Given the description of an element on the screen output the (x, y) to click on. 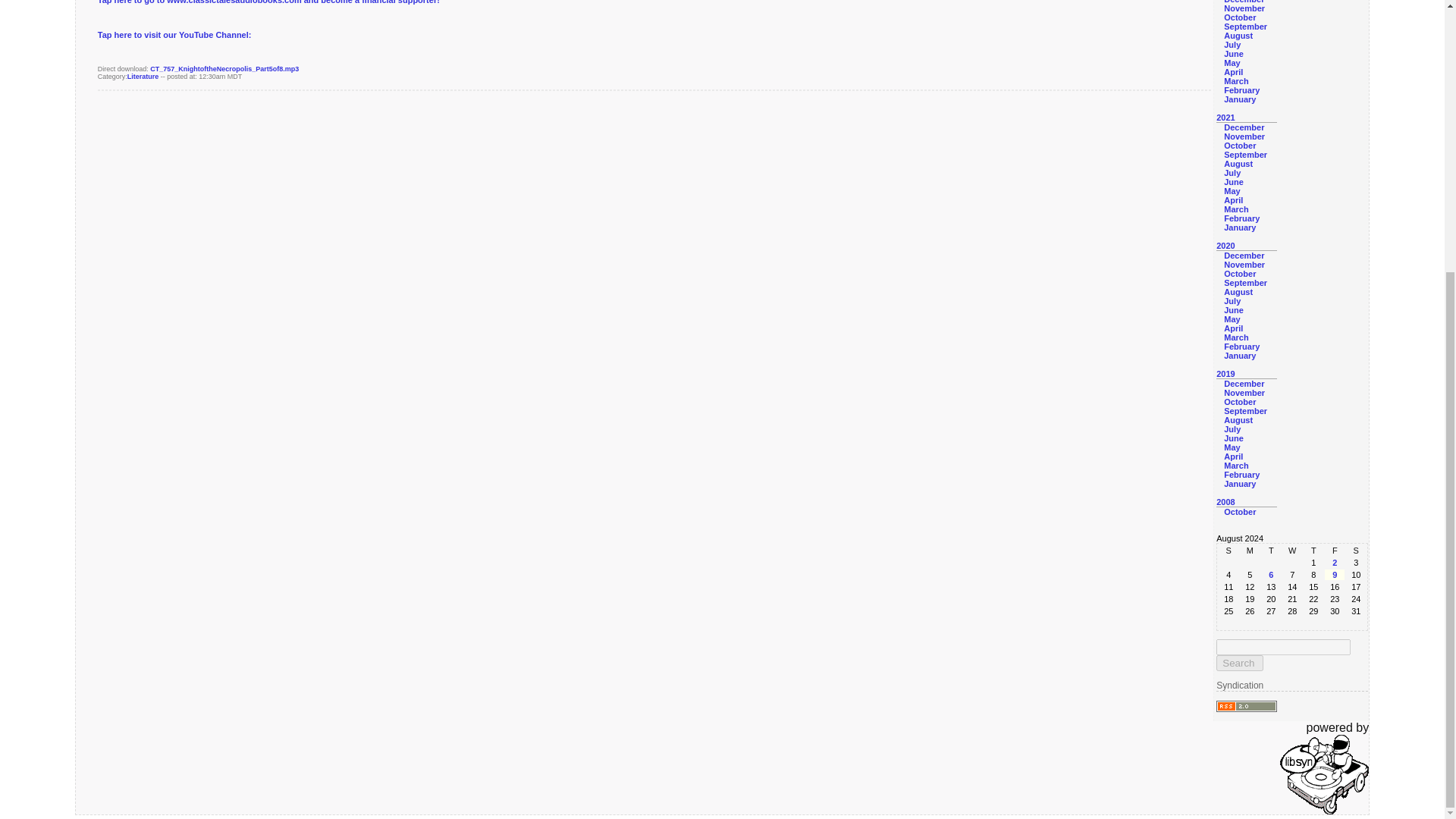
April (1233, 71)
Monday (1249, 550)
February (1241, 90)
Saturday (1355, 550)
Search  (1239, 662)
Sunday (1228, 550)
March (1235, 80)
August (1238, 35)
December (1243, 126)
Wednesday (1291, 550)
